Given the description of an element on the screen output the (x, y) to click on. 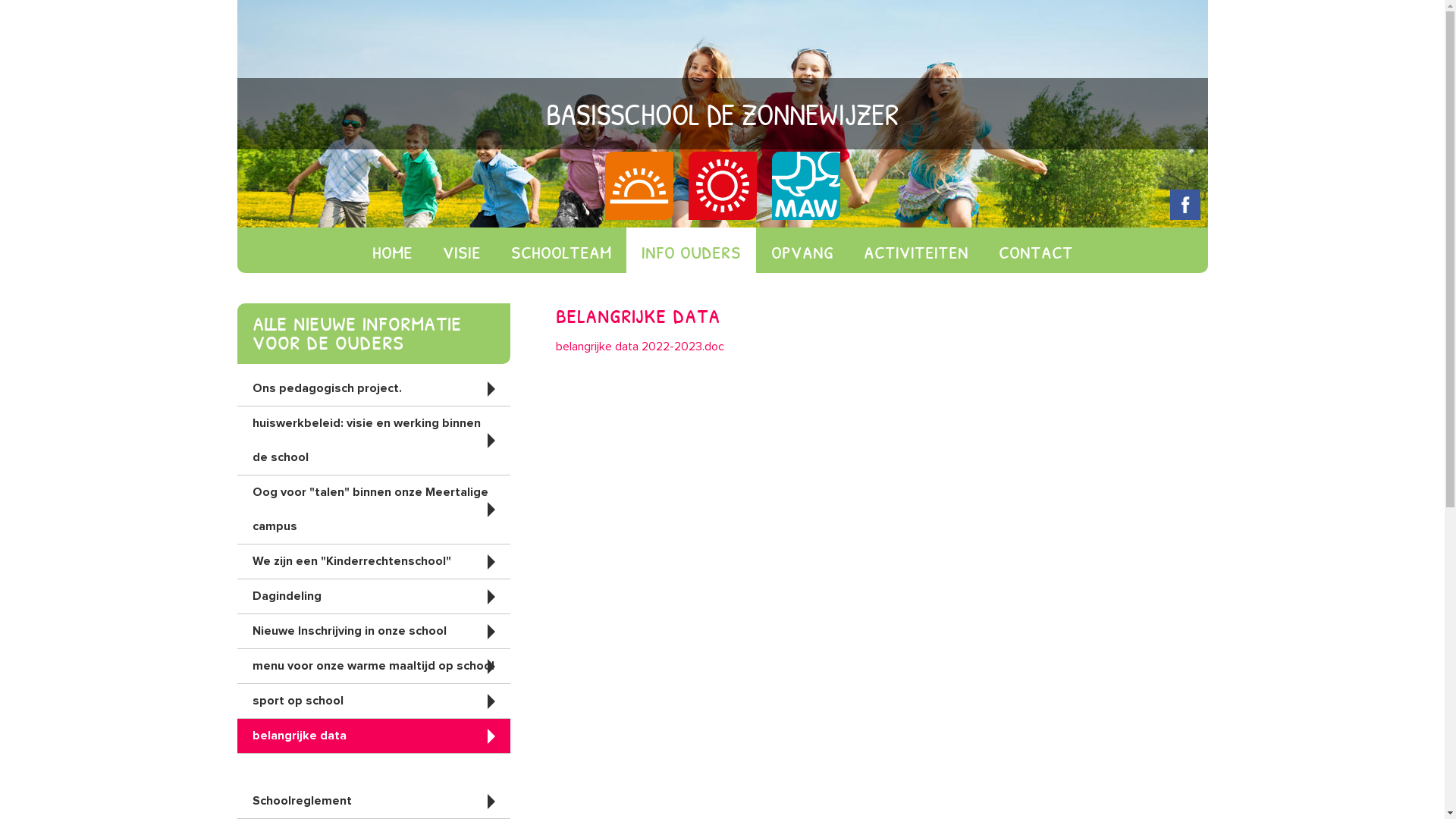
Schoolreglement Element type: text (372, 801)
Oog voor "talen" binnen onze Meertalige campus Element type: text (372, 509)
info ouders Element type: text (691, 250)
We zijn een "Kinderrechtenschool" Element type: text (372, 561)
Dagindeling Element type: text (372, 596)
belangrijke data Element type: text (372, 735)
huiswerkbeleid: visie en werking binnen de school Element type: text (372, 440)
sport op school Element type: text (372, 701)
Nieuwe Inschrijving in onze school Element type: text (372, 631)
activiteiten Element type: text (914, 250)
opvang Element type: text (801, 250)
schoolteam Element type: text (560, 250)
Ons pedagogisch project. Element type: text (372, 388)
visie Element type: text (461, 250)
belangrijke data 2022-2023.doc Element type: text (639, 346)
menu voor onze warme maaltijd op school Element type: text (372, 666)
contact Element type: text (1034, 250)
home Element type: text (391, 250)
